Given the description of an element on the screen output the (x, y) to click on. 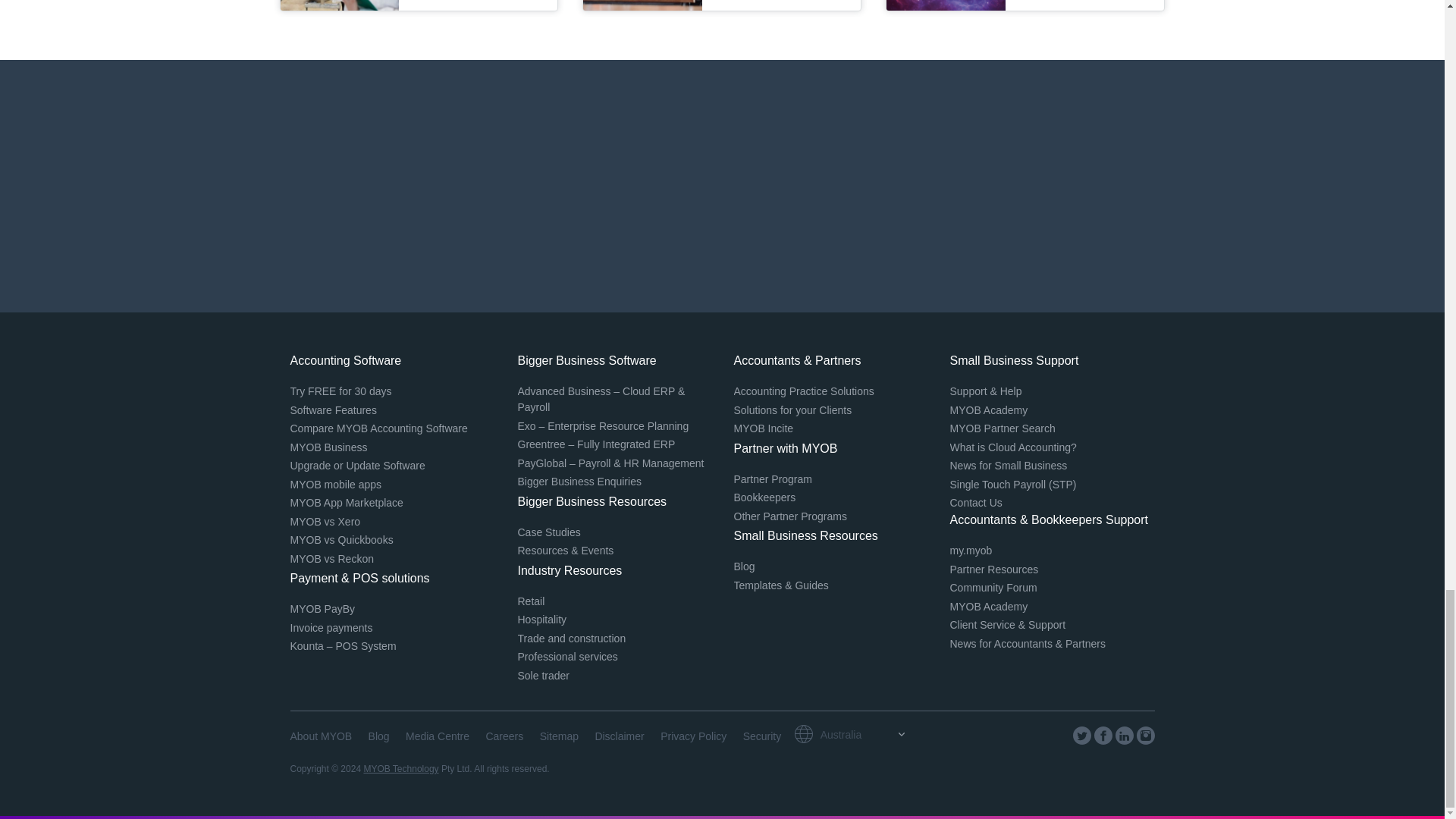
MYOB vs Xero (324, 521)
MYOB mobile apps (335, 484)
Compare MYOB Accounting Software (378, 428)
Software Features (332, 410)
MYOB App Marketplace (346, 502)
Try FREE for 30 days (340, 390)
Accounting Software (345, 359)
Form 0 (721, 186)
Upgrade or Update Software (357, 465)
MYOB Business (327, 447)
